Given the description of an element on the screen output the (x, y) to click on. 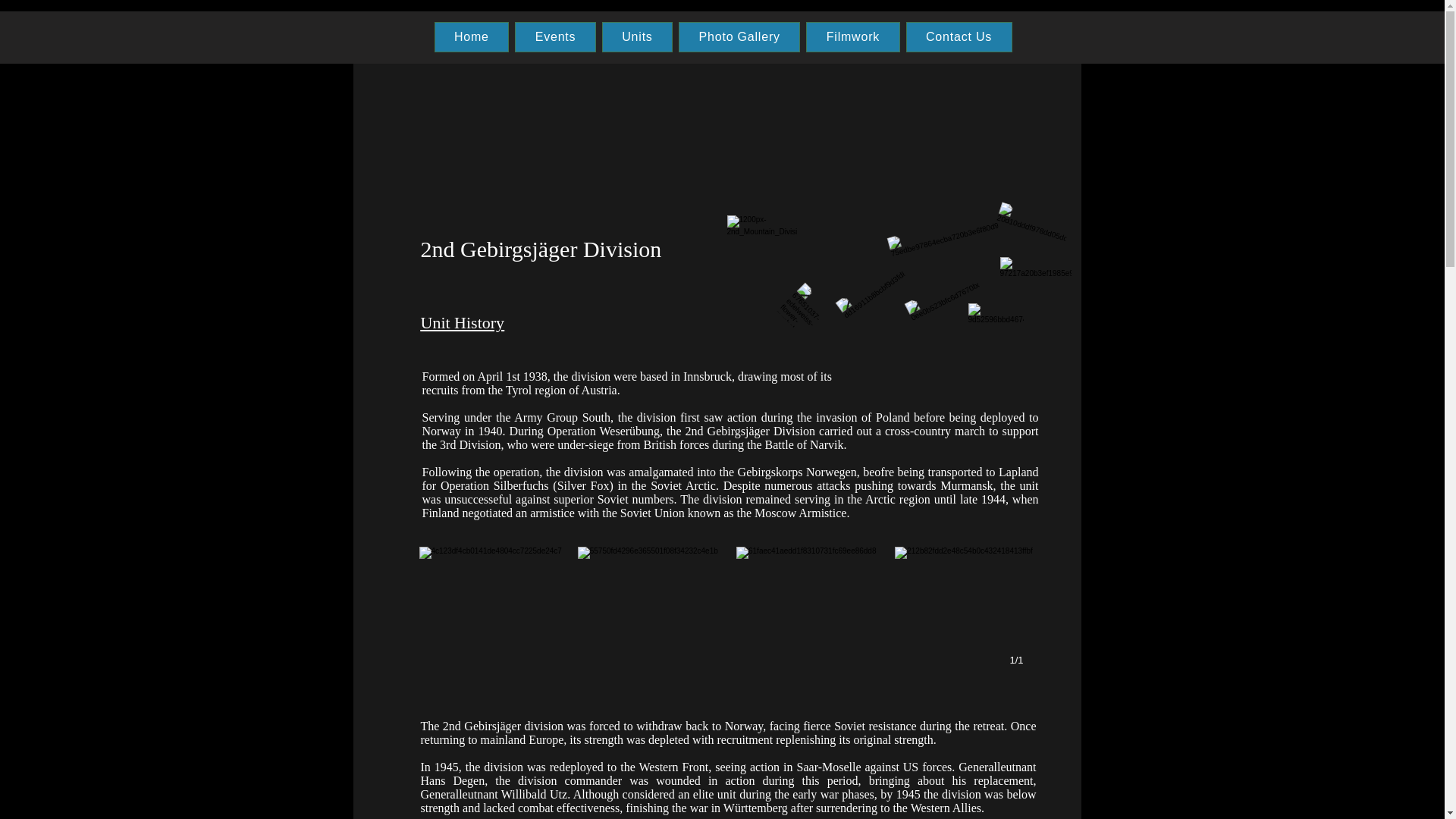
Filmwork (852, 37)
Units (637, 37)
Home (470, 37)
Contact Us (958, 37)
Photo Gallery (738, 37)
Events (555, 37)
